Given the description of an element on the screen output the (x, y) to click on. 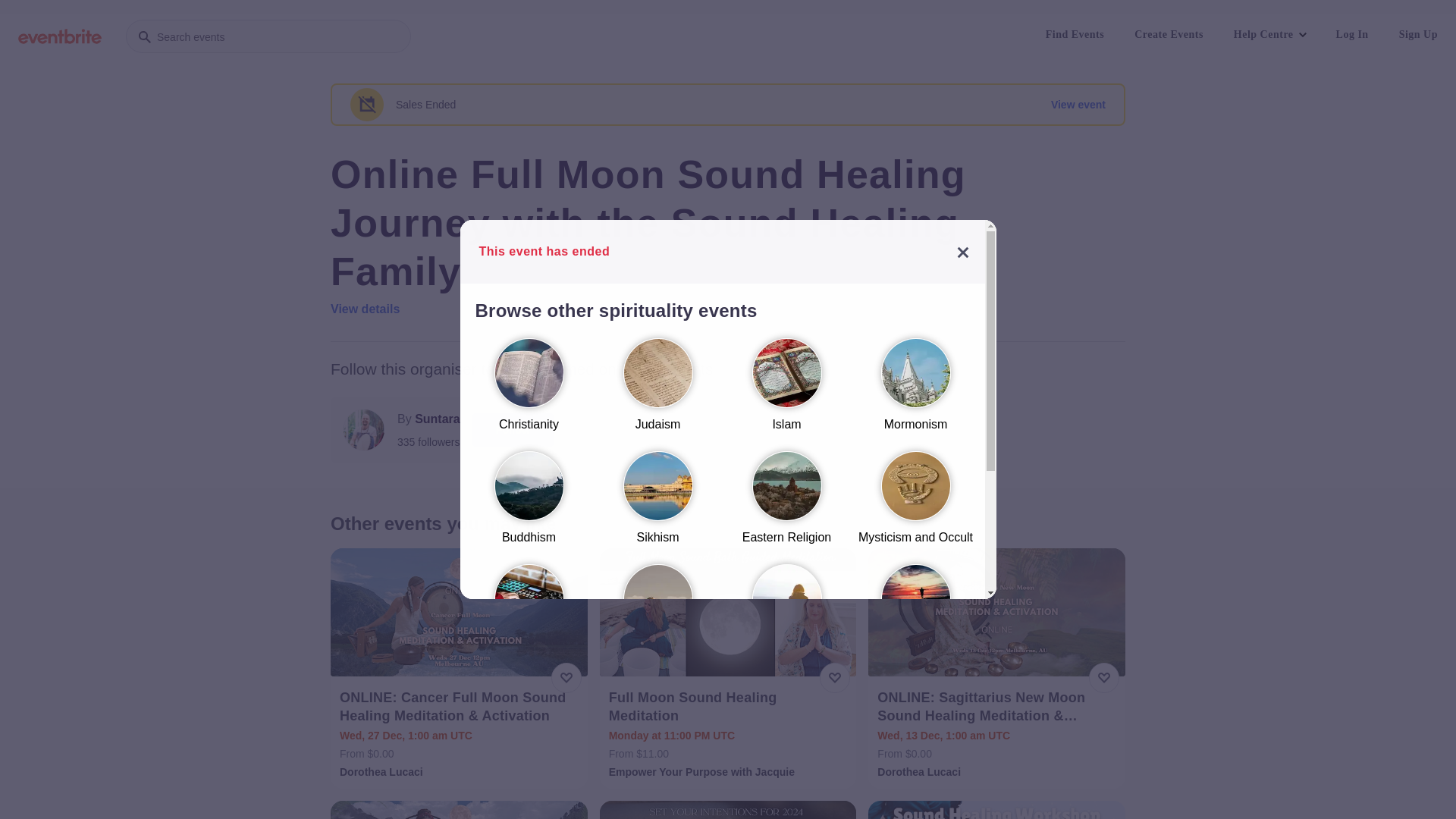
Search events Element type: text (268, 36)
Eventbrite Element type: hover (59, 35)
Create Events Element type: text (1168, 34)
Sikhism Element type: text (657, 504)
Mysticism and Occult Element type: text (914, 504)
New Age Element type: text (528, 617)
Christianity Element type: text (528, 391)
Mormonism Element type: text (914, 391)
Buddhism Element type: text (528, 504)
Agnosticism Element type: text (785, 617)
View details Element type: text (364, 309)
Unaffiliated Element type: text (914, 617)
Full Moon Sound Healing Meditation Element type: text (729, 706)
Judaism Element type: text (657, 391)
Sign Up Element type: text (1417, 34)
View event Element type: text (1078, 104)
Eastern Religion Element type: text (785, 504)
Islam Element type: text (785, 391)
Hinduism Element type: text (528, 730)
Shintoism Element type: text (657, 730)
Log In Element type: text (1352, 34)
Find Events Element type: text (1074, 34)
Atheism Element type: text (657, 617)
Follow Element type: text (513, 429)
